Given the description of an element on the screen output the (x, y) to click on. 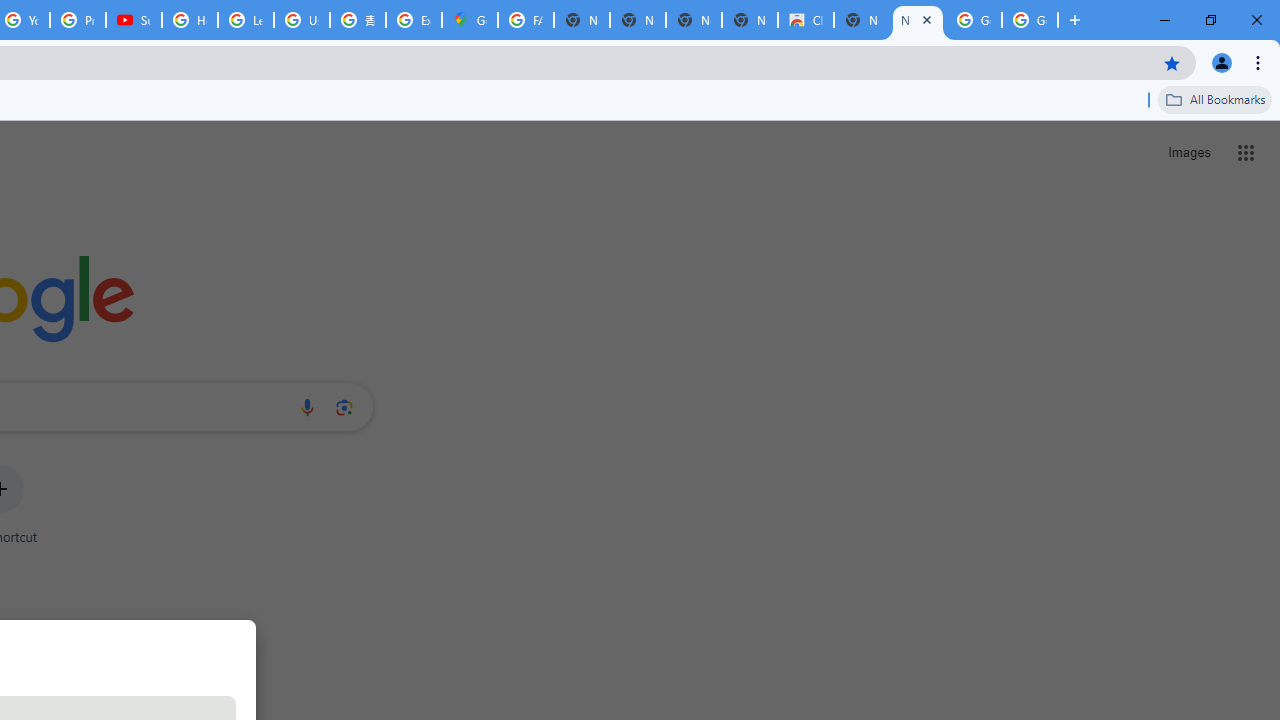
New Tab (861, 20)
Google Images (1030, 20)
Chrome Web Store (806, 20)
How Chrome protects your passwords - Google Chrome Help (189, 20)
Google Images (973, 20)
Explore new street-level details - Google Maps Help (413, 20)
Subscriptions - YouTube (134, 20)
